Given the description of an element on the screen output the (x, y) to click on. 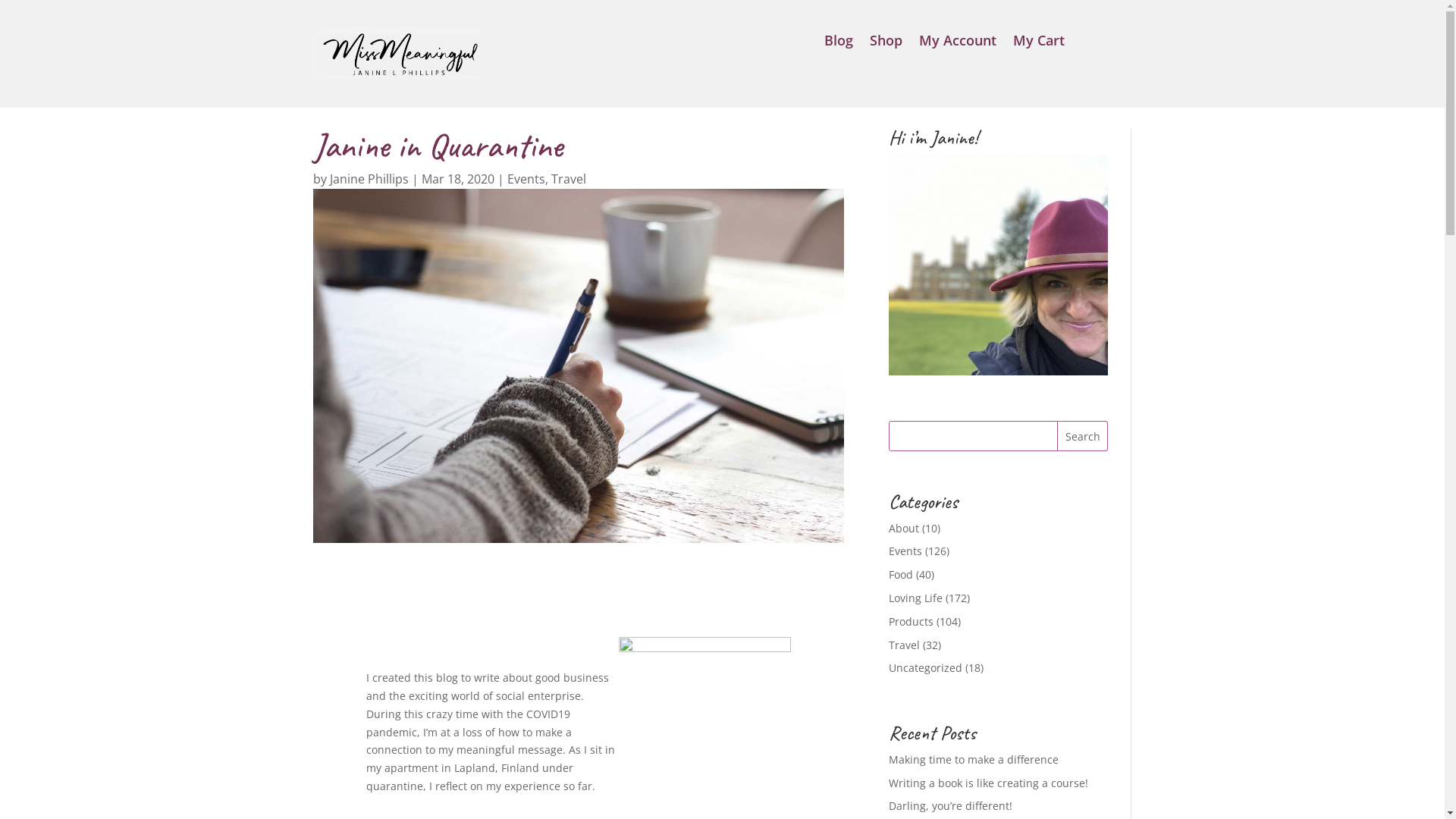
Uncategorized Element type: text (925, 667)
Hi i'm Janine! Element type: hover (997, 264)
Food Element type: text (900, 574)
About Element type: text (903, 527)
Events Element type: text (525, 178)
Making time to make a difference Element type: text (973, 759)
Shop Element type: text (885, 42)
Writing a book is like creating a course! Element type: text (988, 782)
wanderlust-book-logo Element type: hover (399, 53)
Products Element type: text (910, 621)
Search Element type: text (1082, 435)
Loving Life Element type: text (915, 597)
Events Element type: text (905, 550)
My Account Element type: text (957, 42)
Travel Element type: text (567, 178)
Travel Element type: text (903, 644)
Blog Element type: text (838, 42)
missmeaningful-blog-melbourne Element type: hover (577, 365)
My Cart Element type: text (1038, 42)
Janine Phillips Element type: text (368, 178)
